Given the description of an element on the screen output the (x, y) to click on. 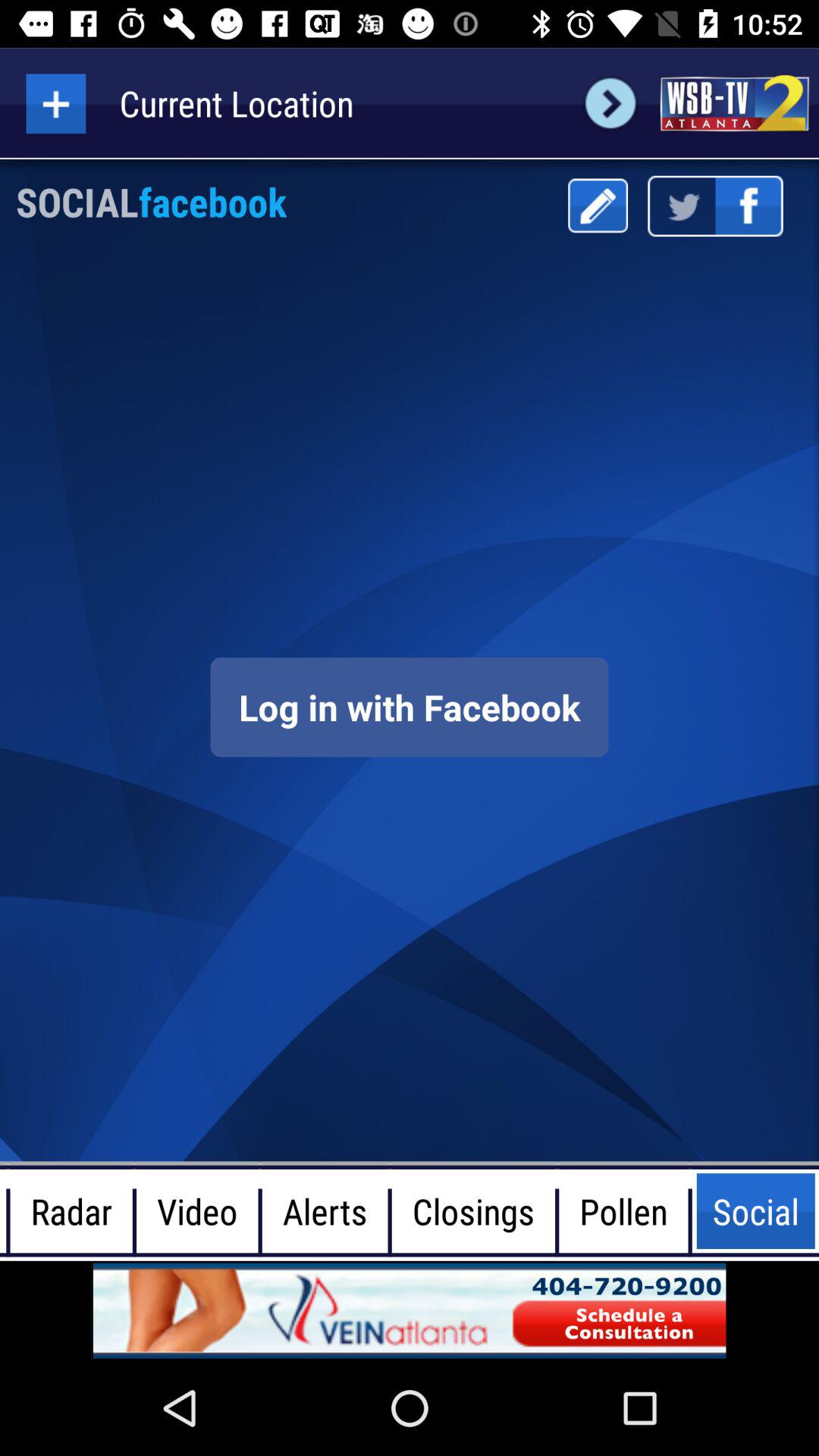
login (409, 707)
